Given the description of an element on the screen output the (x, y) to click on. 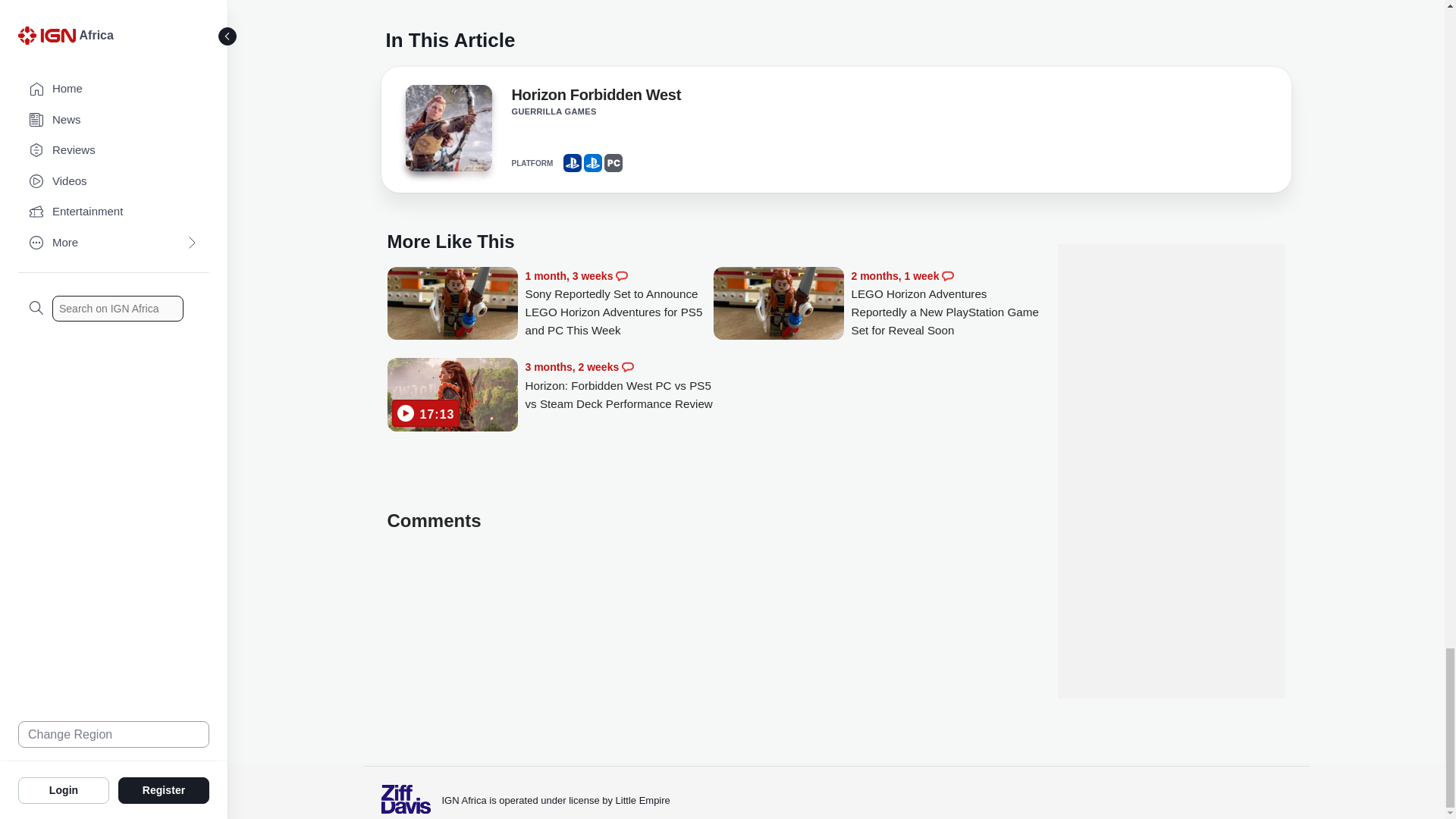
PS5 (592, 162)
Comments (627, 367)
Horizon Forbidden West (595, 97)
PC (613, 162)
Horizon Forbidden West (448, 132)
Horizon Forbidden West (595, 97)
Horizon Forbidden West (448, 128)
PS4 (571, 162)
Comments (947, 275)
